Given the description of an element on the screen output the (x, y) to click on. 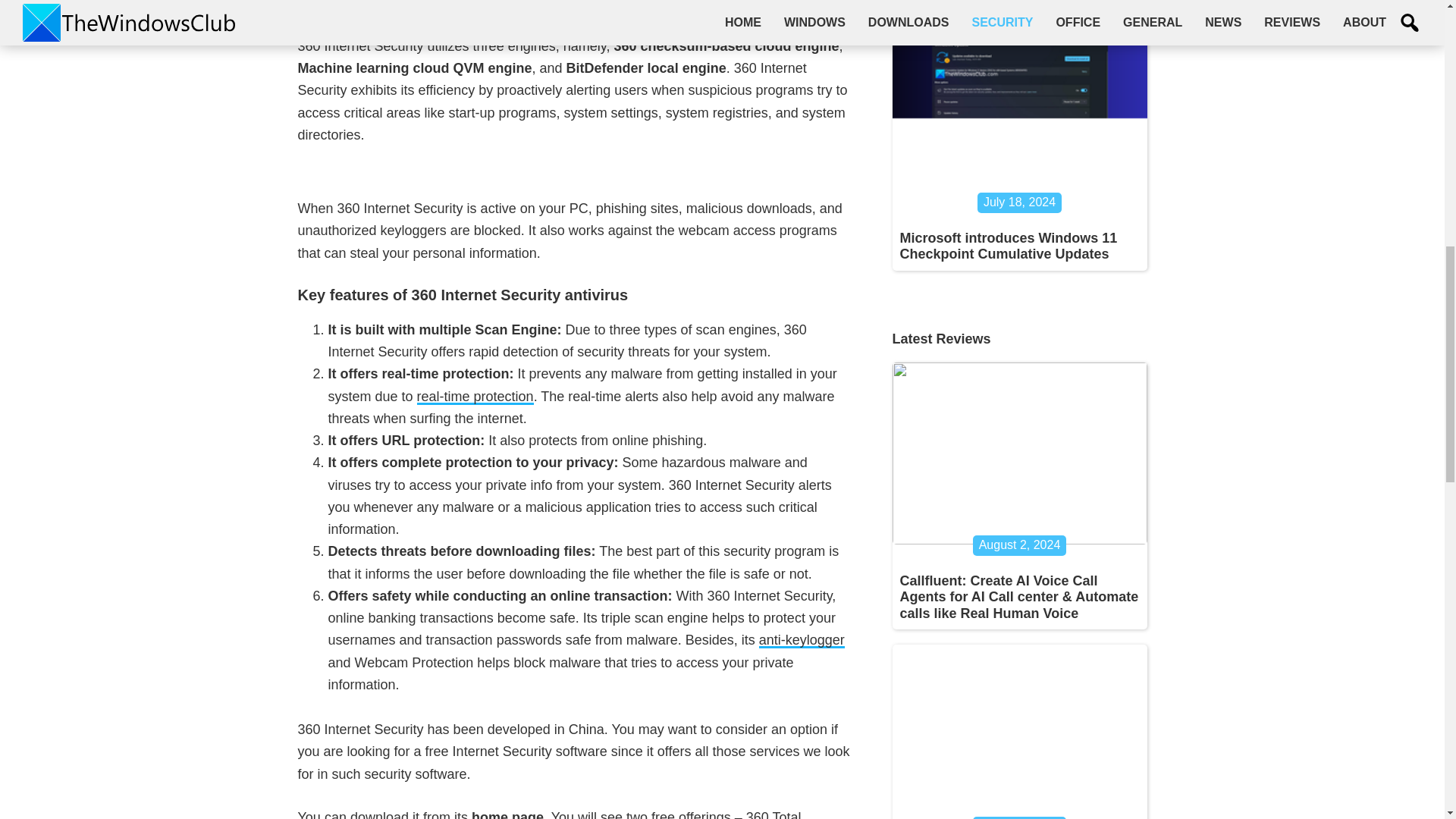
anti-keylogger (801, 640)
home page (507, 814)
real-time protection (475, 396)
